Given the description of an element on the screen output the (x, y) to click on. 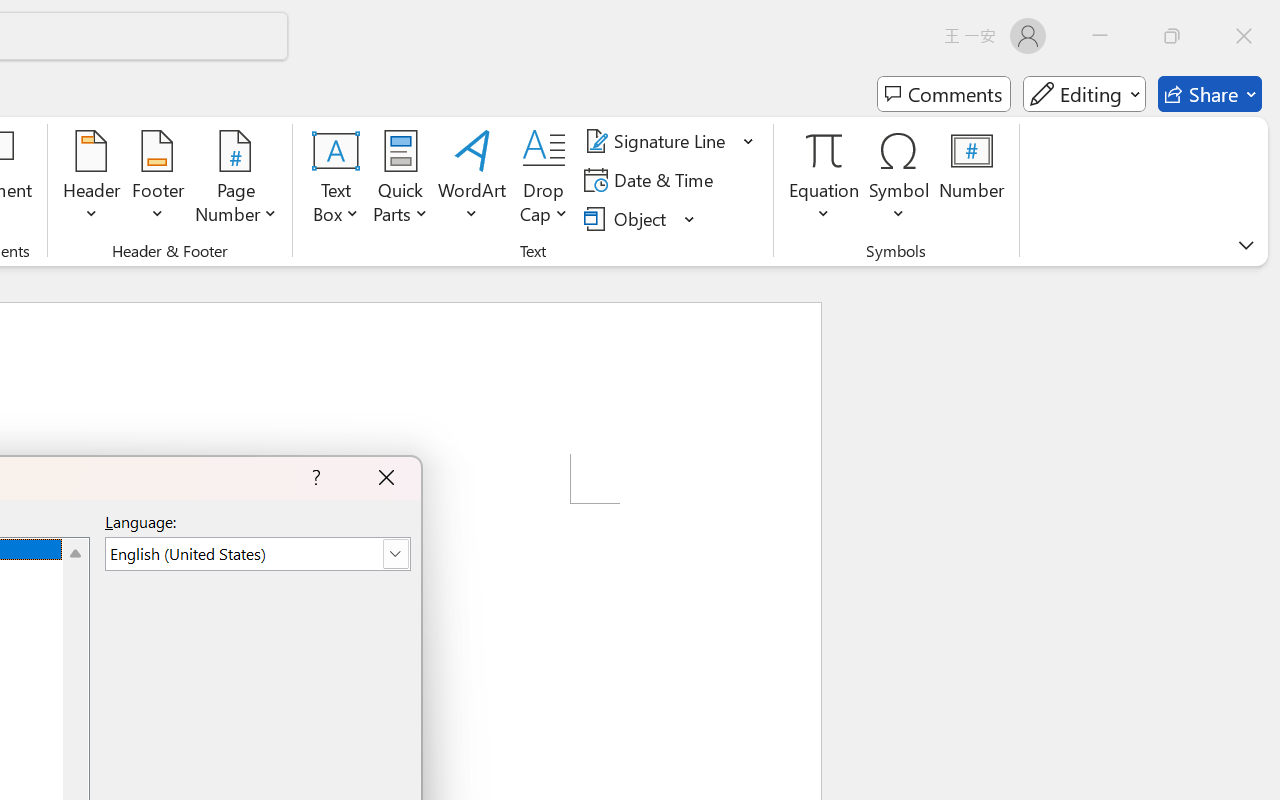
Close (1244, 36)
Object... (640, 218)
Drop Cap (543, 179)
Footer (157, 179)
More Options (823, 206)
Share (1210, 94)
Mode (1083, 94)
Equation (823, 179)
Header (92, 179)
Restore Down (1172, 36)
Ribbon Display Options (1246, 245)
Signature Line (658, 141)
Page Number (236, 179)
